Given the description of an element on the screen output the (x, y) to click on. 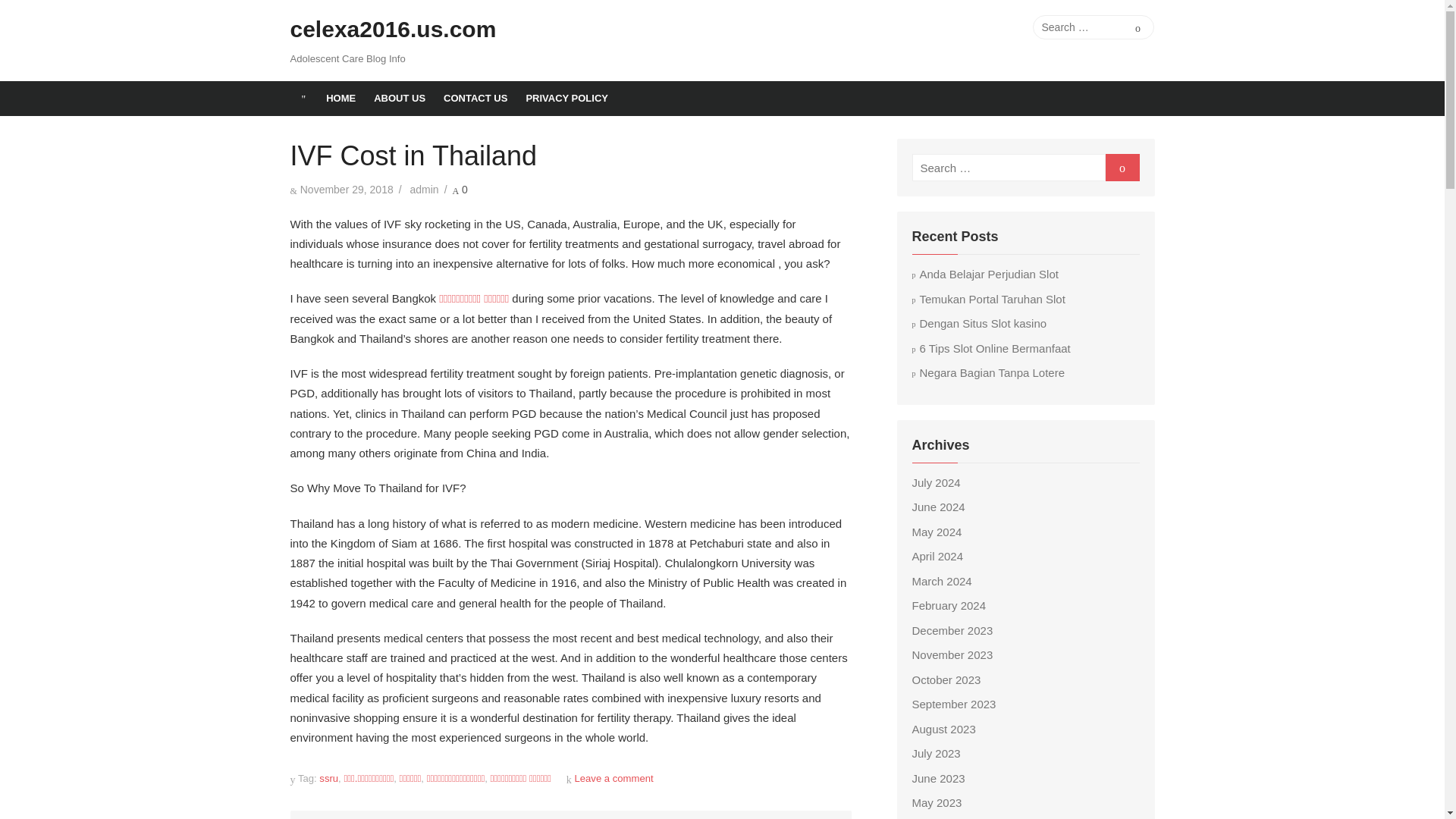
Negara Bagian Tanpa Lotere (987, 372)
6 Tips Slot Online Bermanfaat (990, 348)
Dengan Situs Slot kasino (978, 323)
March 2024 (941, 581)
HOME (341, 98)
Search (1137, 27)
ssru (327, 778)
ABOUT US (399, 98)
Leave a comment (612, 778)
July 2024 (935, 481)
February 2024 (948, 604)
CONTACT US (474, 98)
December 2023 (951, 630)
November 29, 2018 (346, 189)
PRIVACY POLICY (566, 98)
